Given the description of an element on the screen output the (x, y) to click on. 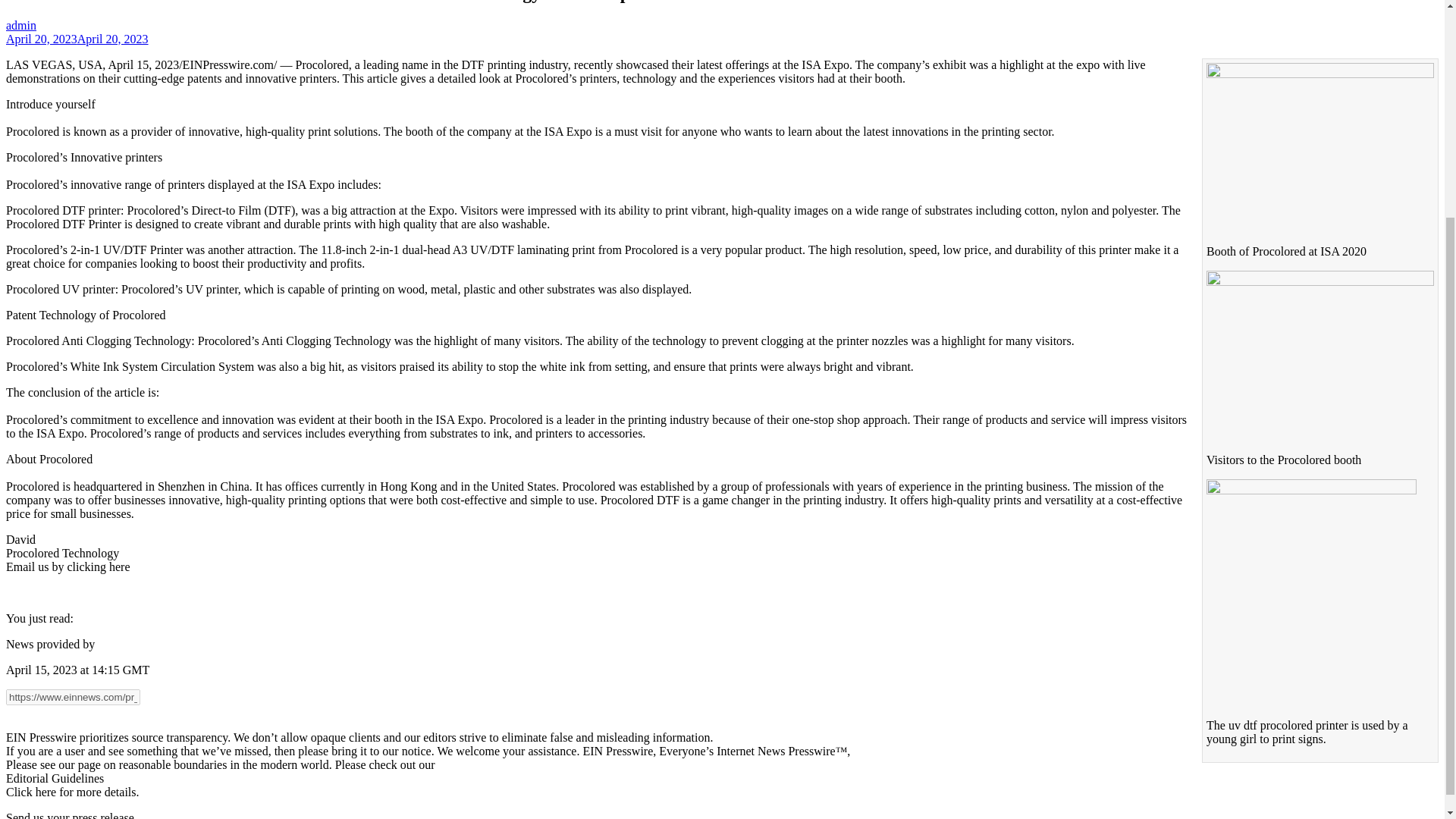
admin (20, 24)
April 20, 2023April 20, 2023 (76, 38)
